Given the description of an element on the screen output the (x, y) to click on. 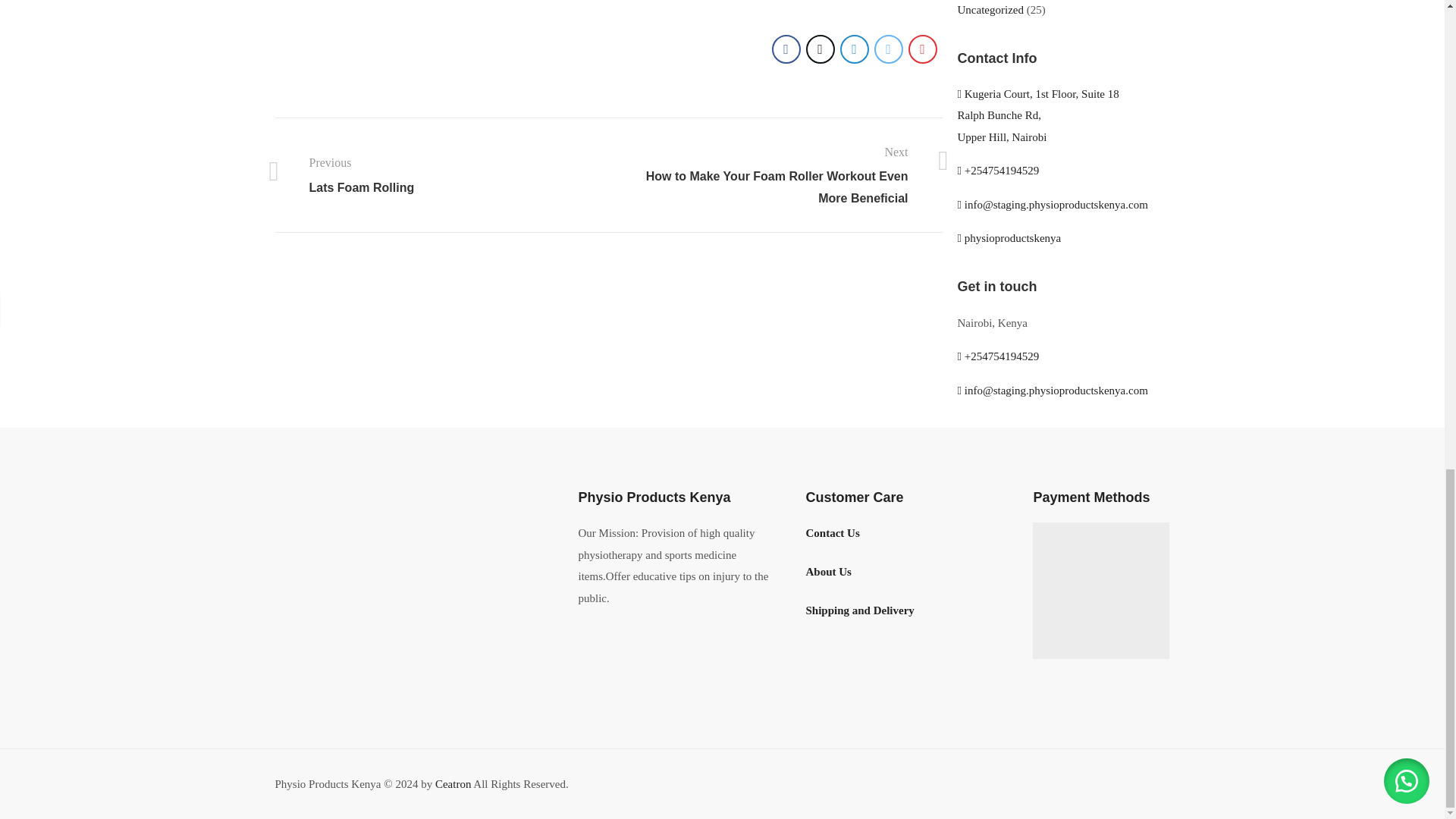
Contact Us (832, 532)
Mail Us (1051, 204)
Call Us (997, 170)
Mail Us (1051, 390)
Live chat (1008, 237)
How To Pay (1100, 590)
Our Address (1037, 115)
About (827, 571)
Call Us (997, 356)
